Given the description of an element on the screen output the (x, y) to click on. 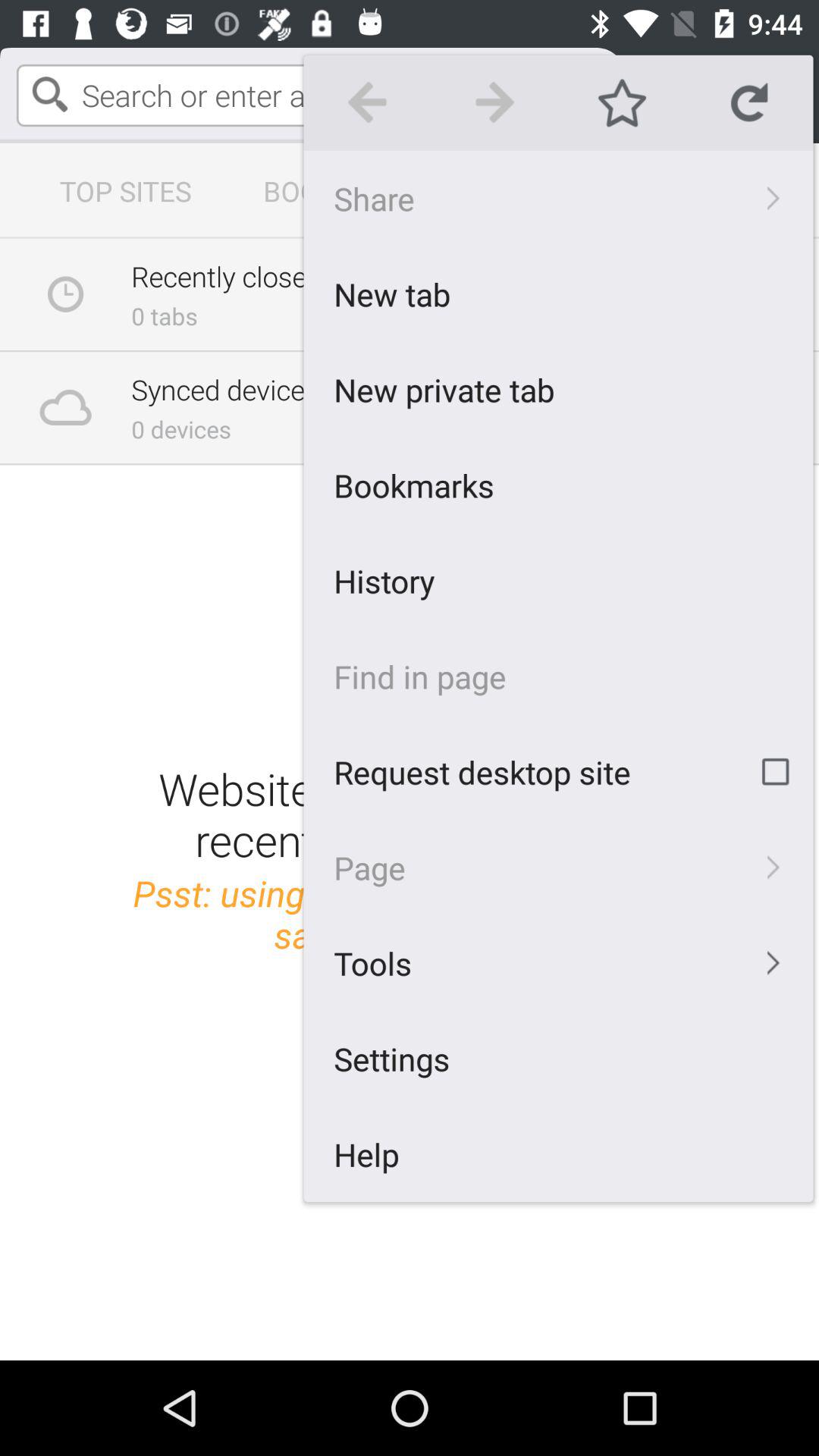
open the item above the new tab item (558, 198)
